Given the description of an element on the screen output the (x, y) to click on. 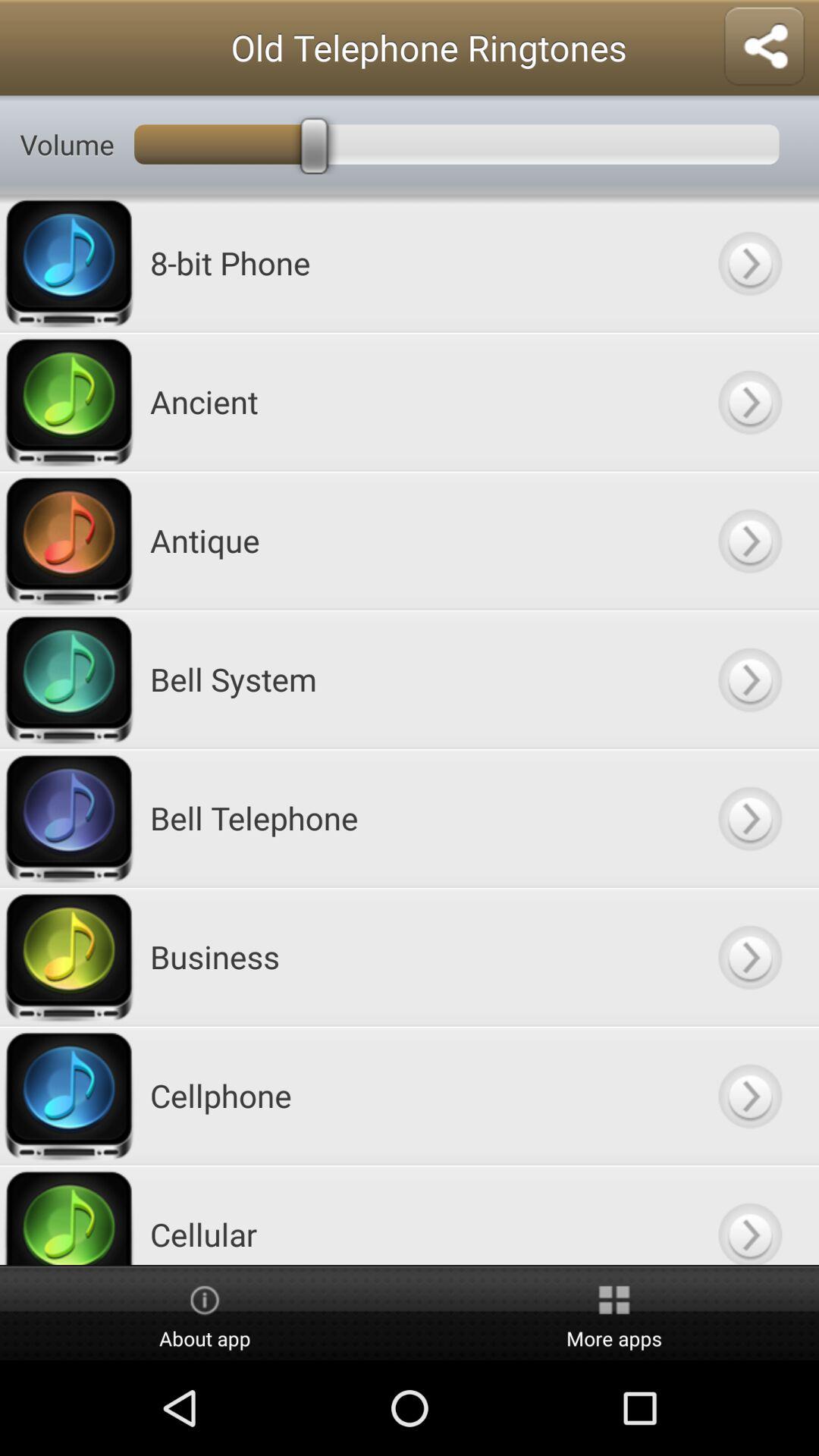
play button (749, 818)
